Given the description of an element on the screen output the (x, y) to click on. 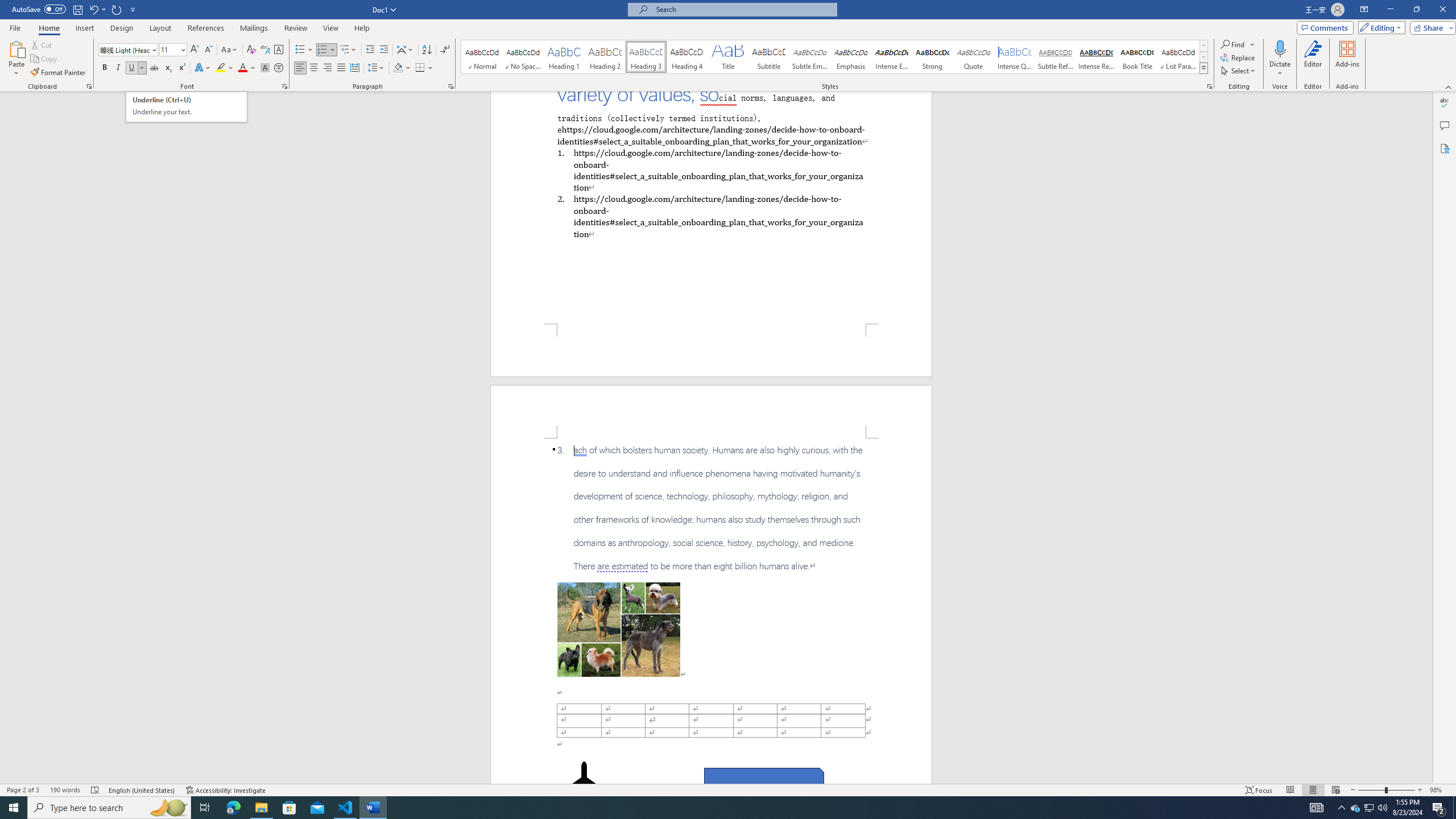
Page Number Page 2 of 3 (22, 790)
Heading 4 (686, 56)
